Given the description of an element on the screen output the (x, y) to click on. 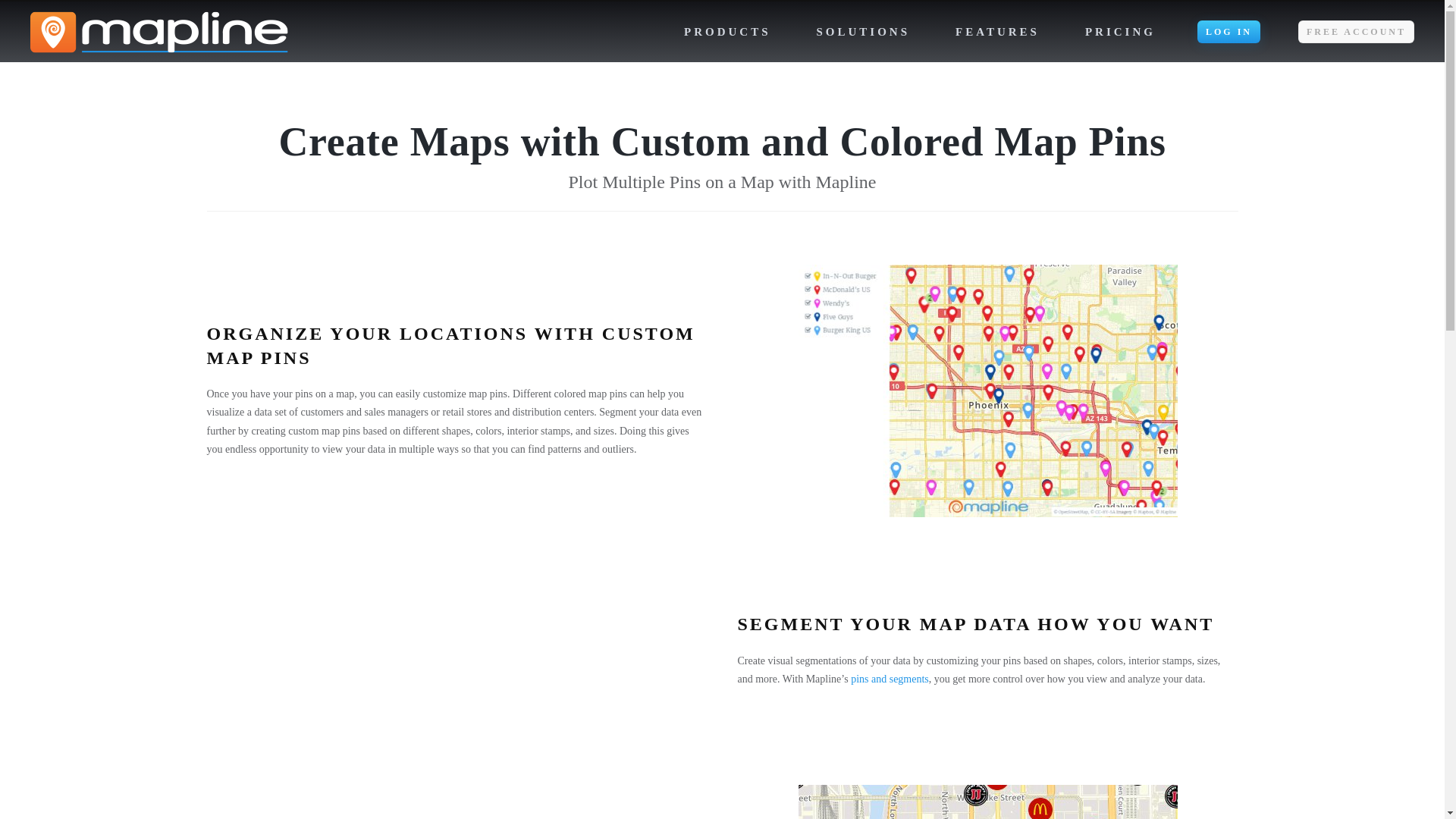
pins and segments (889, 678)
PRICING (1120, 31)
SOLUTIONS (863, 31)
FREE ACCOUNT (1355, 31)
LOG IN (1228, 31)
FEATURES (997, 31)
PRODUCTS (727, 31)
